Given the description of an element on the screen output the (x, y) to click on. 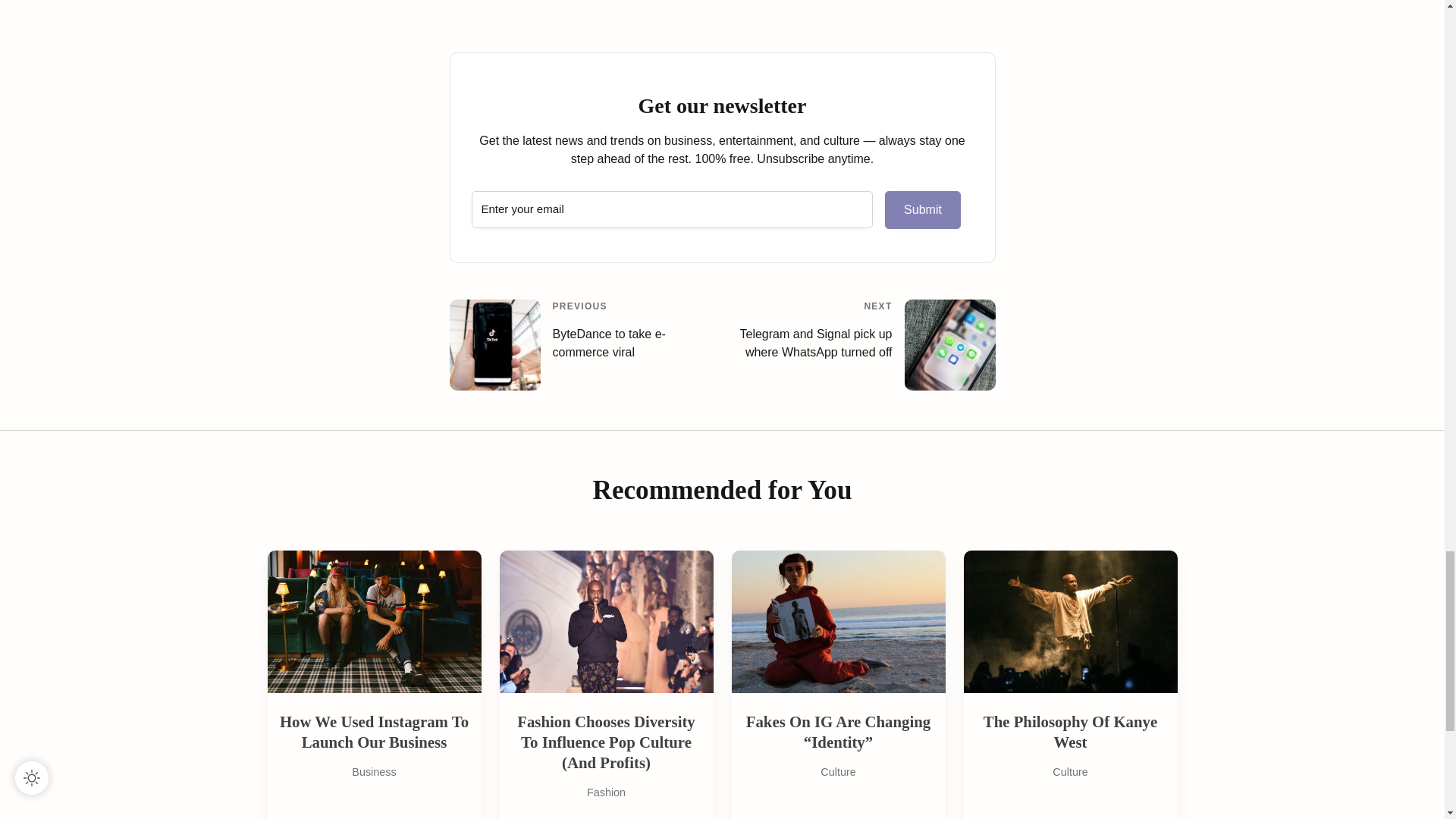
Submit (922, 209)
